Given the description of an element on the screen output the (x, y) to click on. 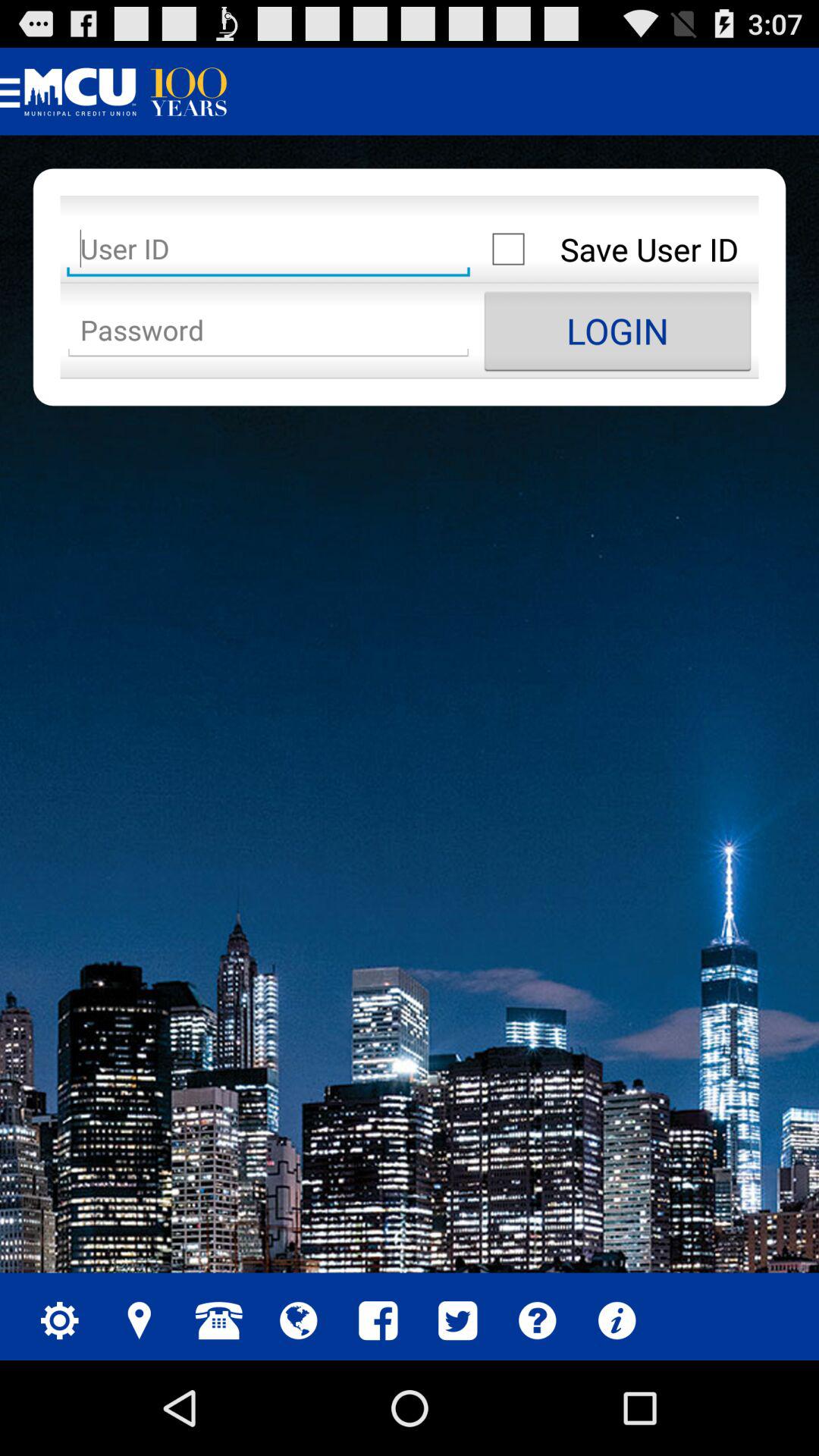
password field (268, 330)
